Given the description of an element on the screen output the (x, y) to click on. 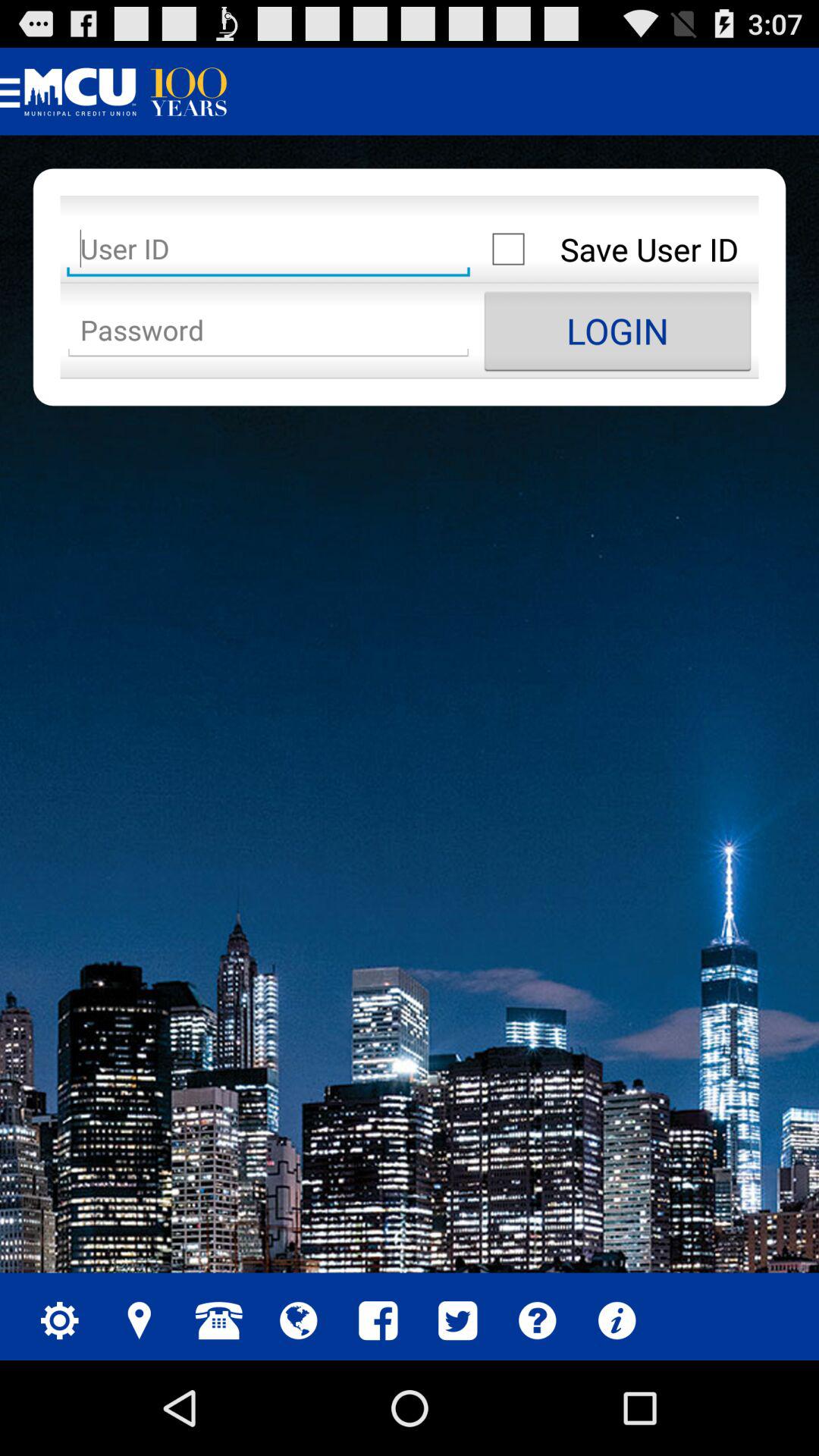
password field (268, 330)
